Given the description of an element on the screen output the (x, y) to click on. 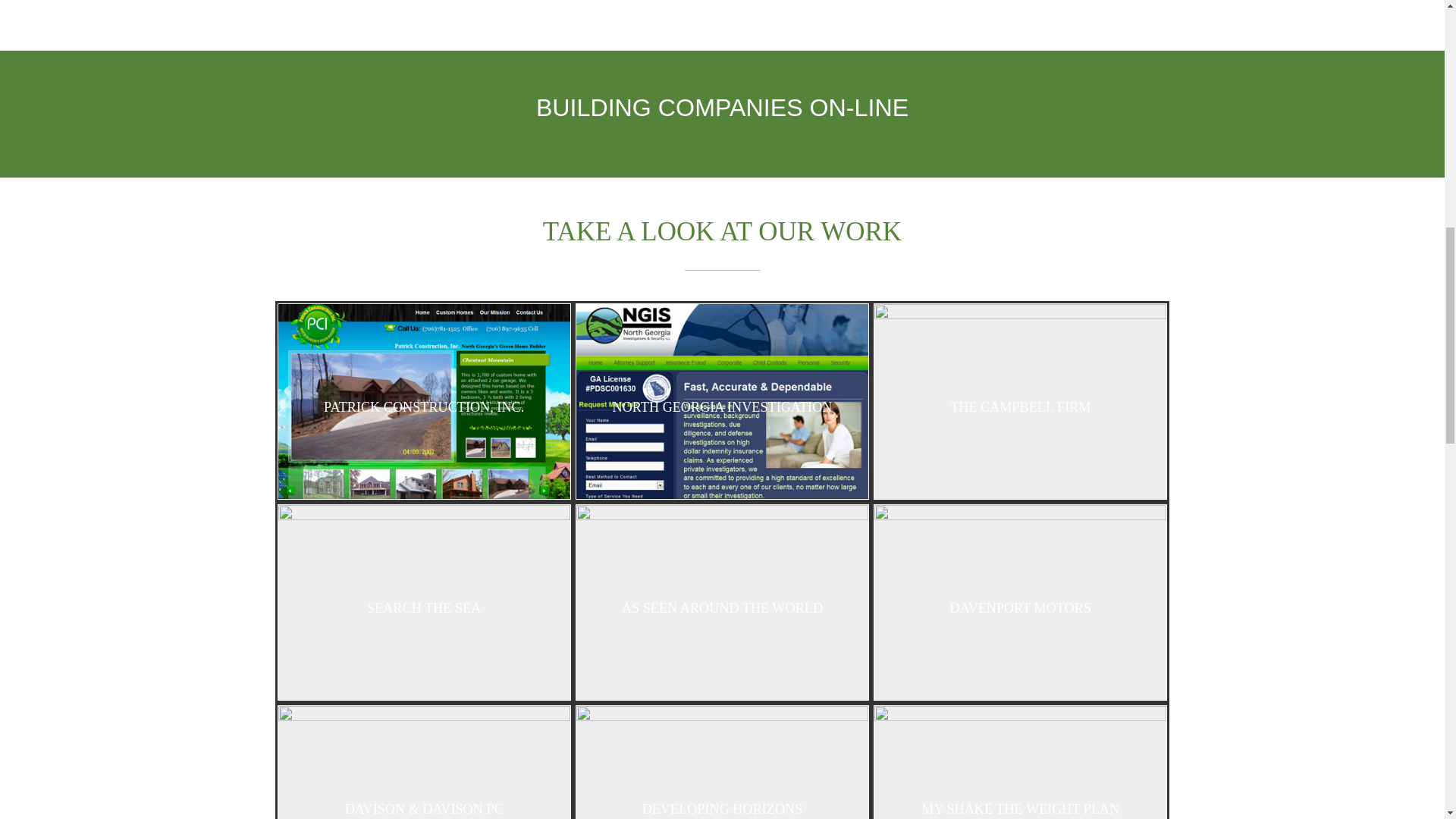
DEVELOPING HORIZONS (721, 762)
DAVENPORT MOTORS (1020, 602)
THE CAMPBELL FIRM (1020, 400)
SEARCH THE SEA (423, 602)
NORTH GEORGIA INVESTIGATION (721, 400)
PATRICK CONSTRUCTION, INC. (423, 400)
AS SEEN AROUND THE WORLD (721, 602)
MY SHAKE THE WEIGHT PLAN (1020, 762)
